Given the description of an element on the screen output the (x, y) to click on. 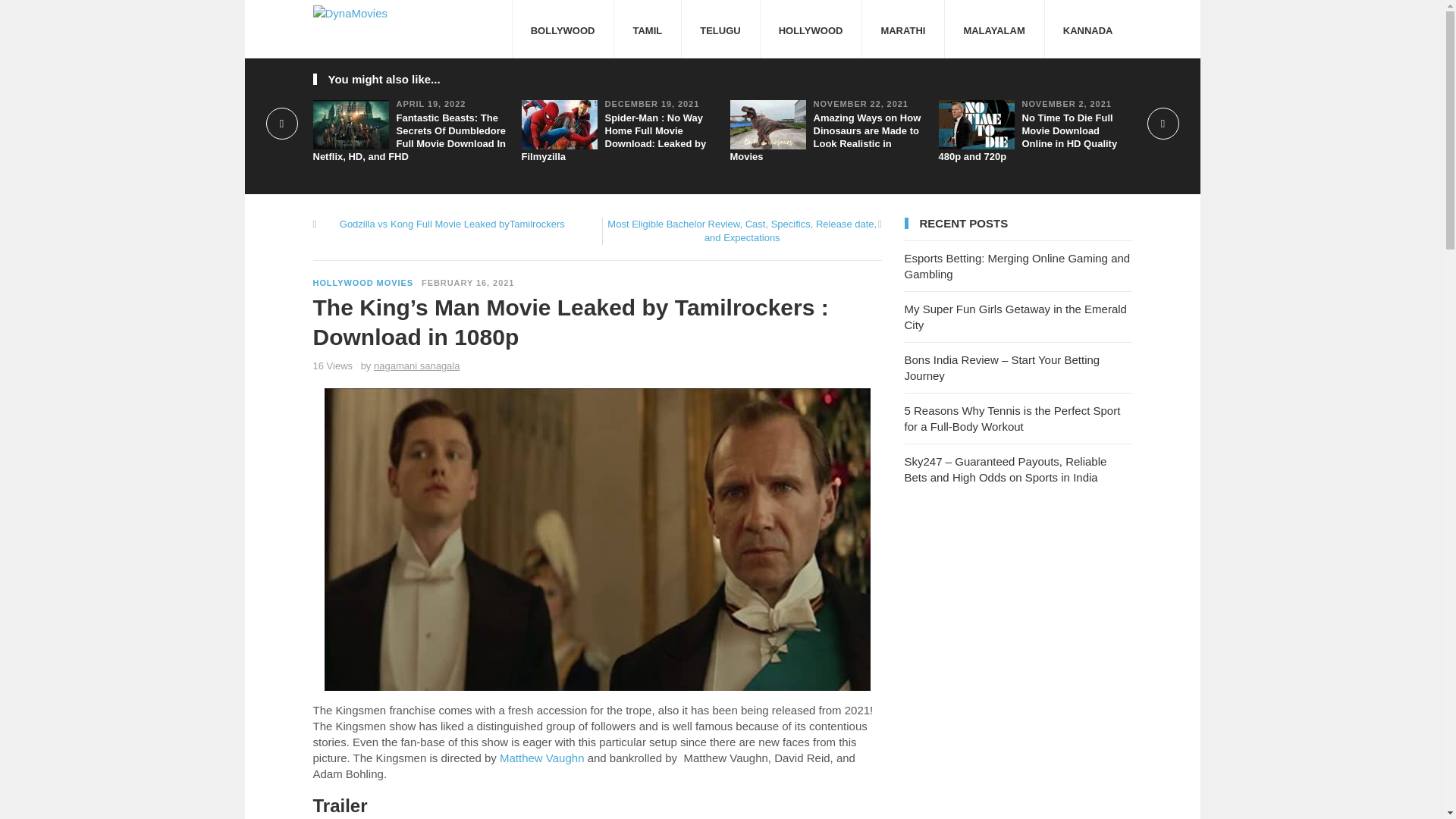
Matthew Vaughn (541, 757)
HOLLYWOOD (810, 29)
HOLLYWOOD MOVIES (363, 282)
BOLLYWOOD (563, 29)
TELUGU (719, 29)
MARATHI (902, 29)
Godzilla vs Kong Full Movie Leaked byTamilrockers (451, 224)
nagamani sanagala (417, 365)
